Given the description of an element on the screen output the (x, y) to click on. 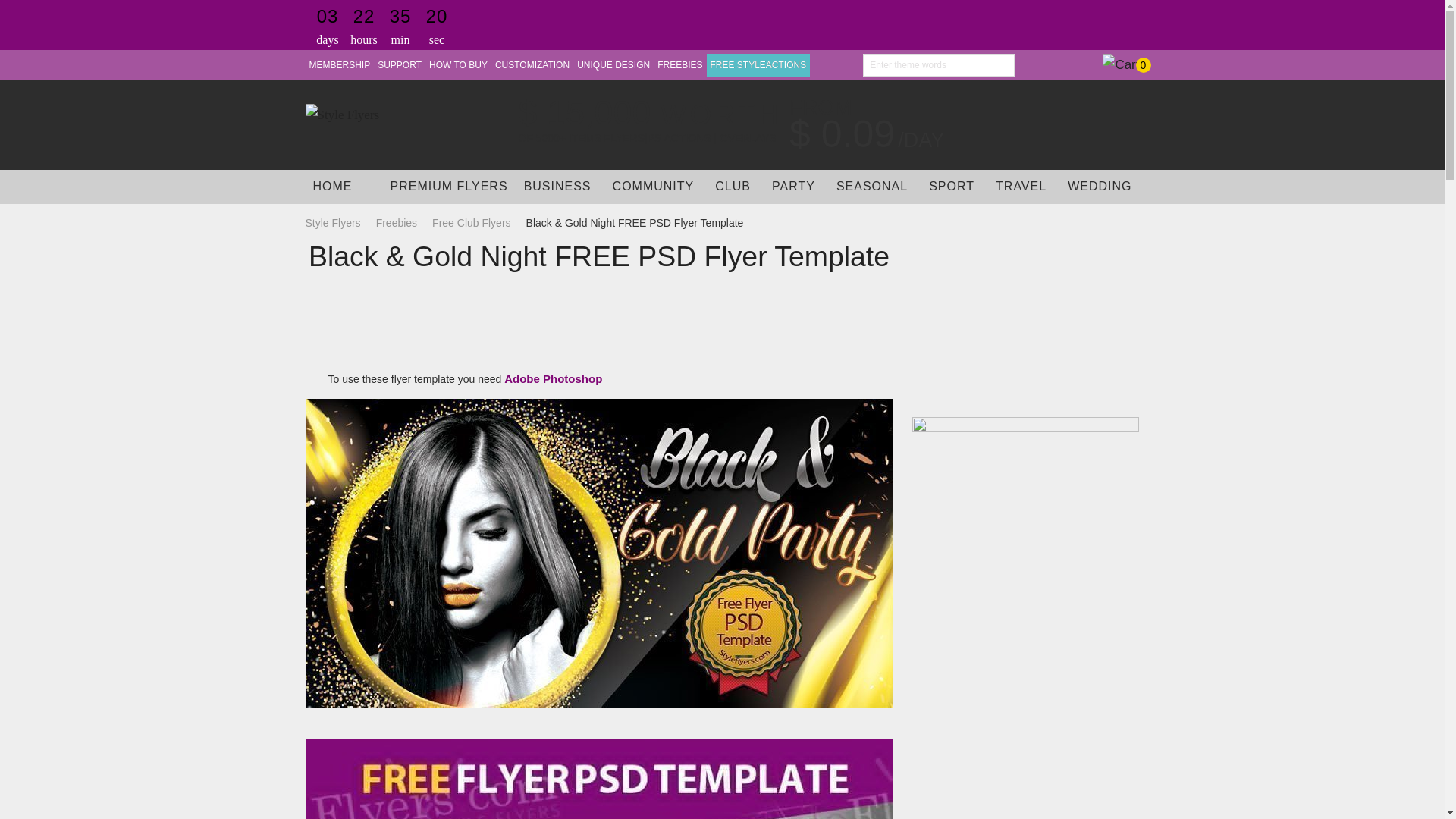
HOME (332, 187)
Freebies (396, 223)
CUSTOMIZATION (532, 65)
Style Flyers (336, 223)
Freebies (396, 223)
UNIQUE DESIGN (613, 65)
FREEBIES (679, 65)
Free Club flyers (471, 223)
Adobe Photoshop (552, 379)
PARTY (793, 187)
